Given the description of an element on the screen output the (x, y) to click on. 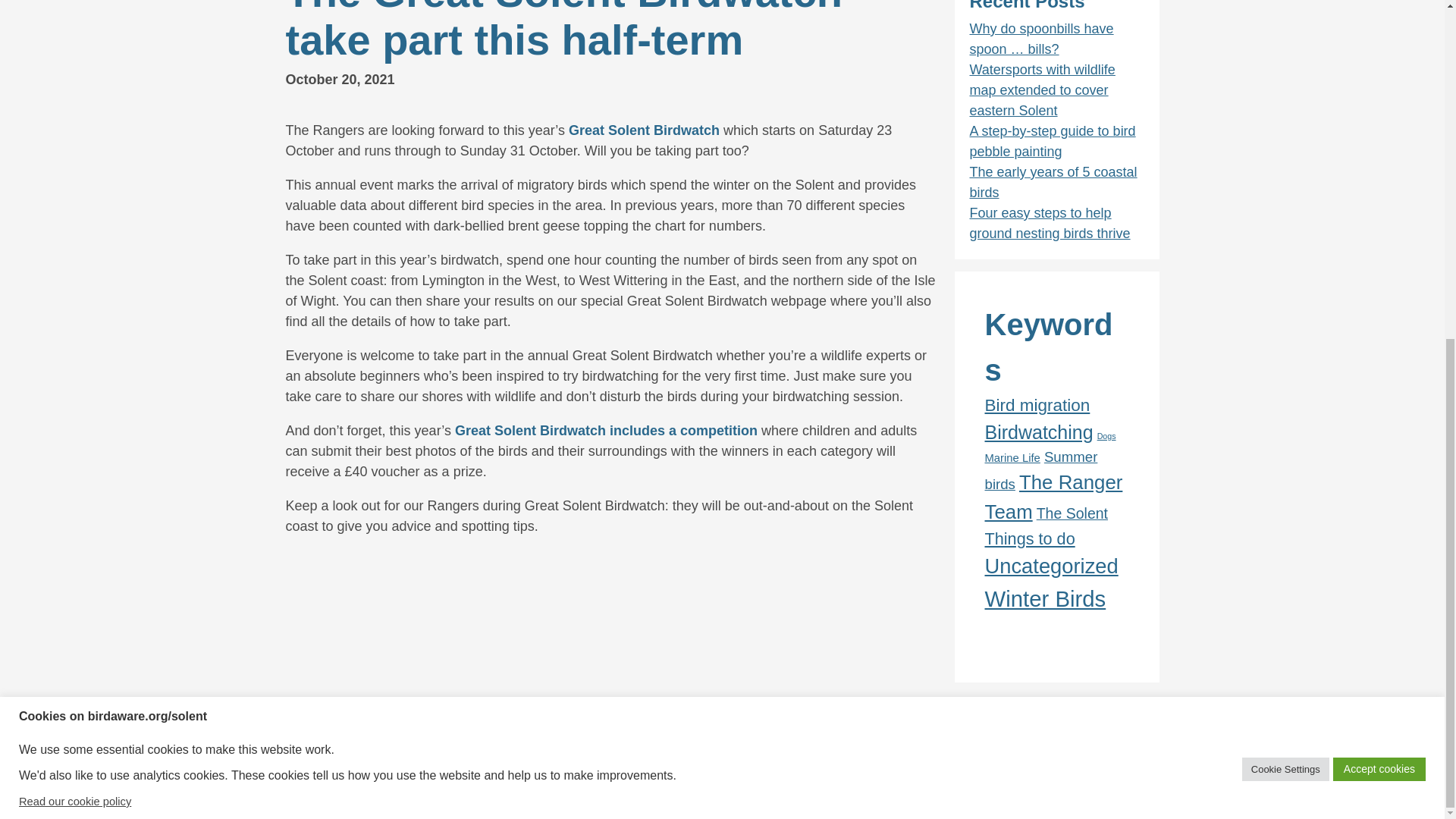
Great Solent Birdwatch includes a competition (605, 430)
A step-by-step guide to bird pebble painting (1052, 140)
Great Solent Birdwatch (644, 130)
The early years of 5 coastal birds (1053, 181)
